Given the description of an element on the screen output the (x, y) to click on. 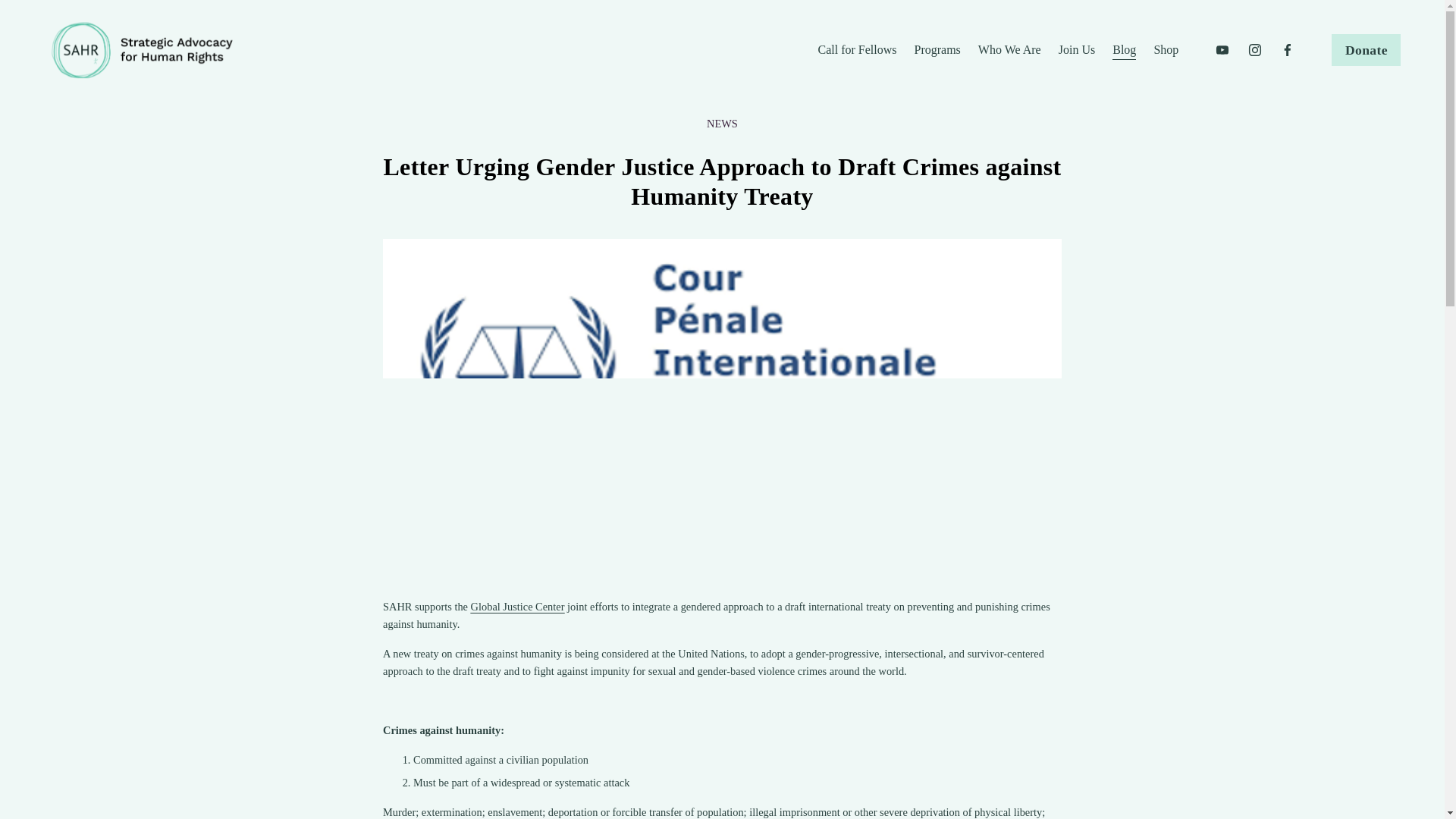
Shop (1165, 50)
Who We Are (1009, 50)
Blog (1123, 50)
Programs (937, 50)
Join Us (1076, 50)
Donate (1366, 50)
Call for Fellows (856, 50)
